Given the description of an element on the screen output the (x, y) to click on. 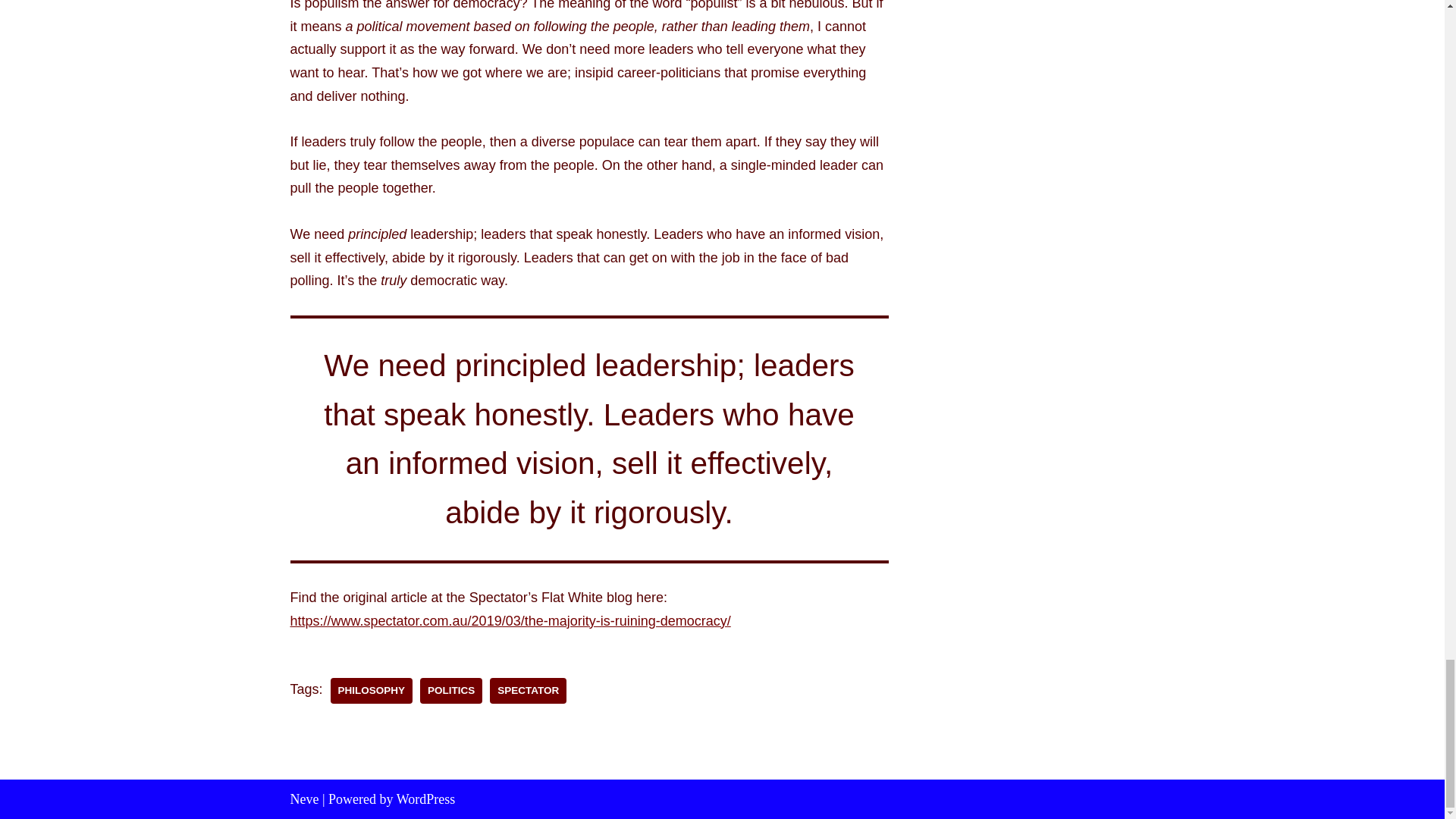
Spectator (527, 690)
PHILOSOPHY (371, 690)
Politics (450, 690)
Philosophy (371, 690)
POLITICS (450, 690)
SPECTATOR (527, 690)
